Given the description of an element on the screen output the (x, y) to click on. 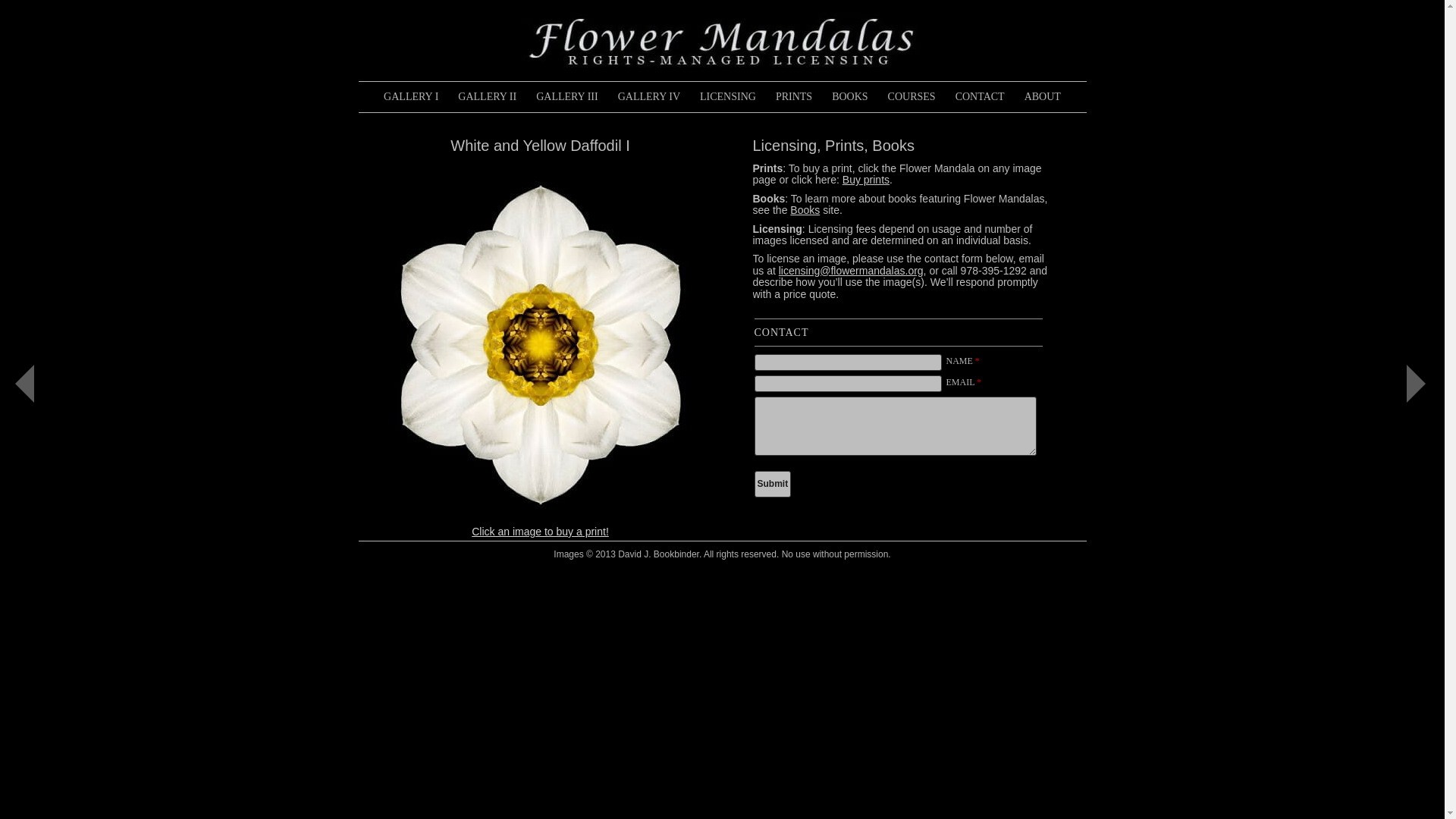
Submit (772, 483)
BOOKS (849, 96)
Buy prints (866, 179)
LICENSING (727, 96)
CONTACT (979, 96)
GALLERY IV (649, 96)
PRINTS (793, 96)
GALLERY III (566, 96)
GALLERY I (411, 96)
Click an image to buy a print! (539, 531)
Buy Flower Mandala prints (793, 96)
Books (804, 209)
COURSES (910, 96)
Flower Mandala books and coloring books (849, 96)
Submit (772, 483)
